Given the description of an element on the screen output the (x, y) to click on. 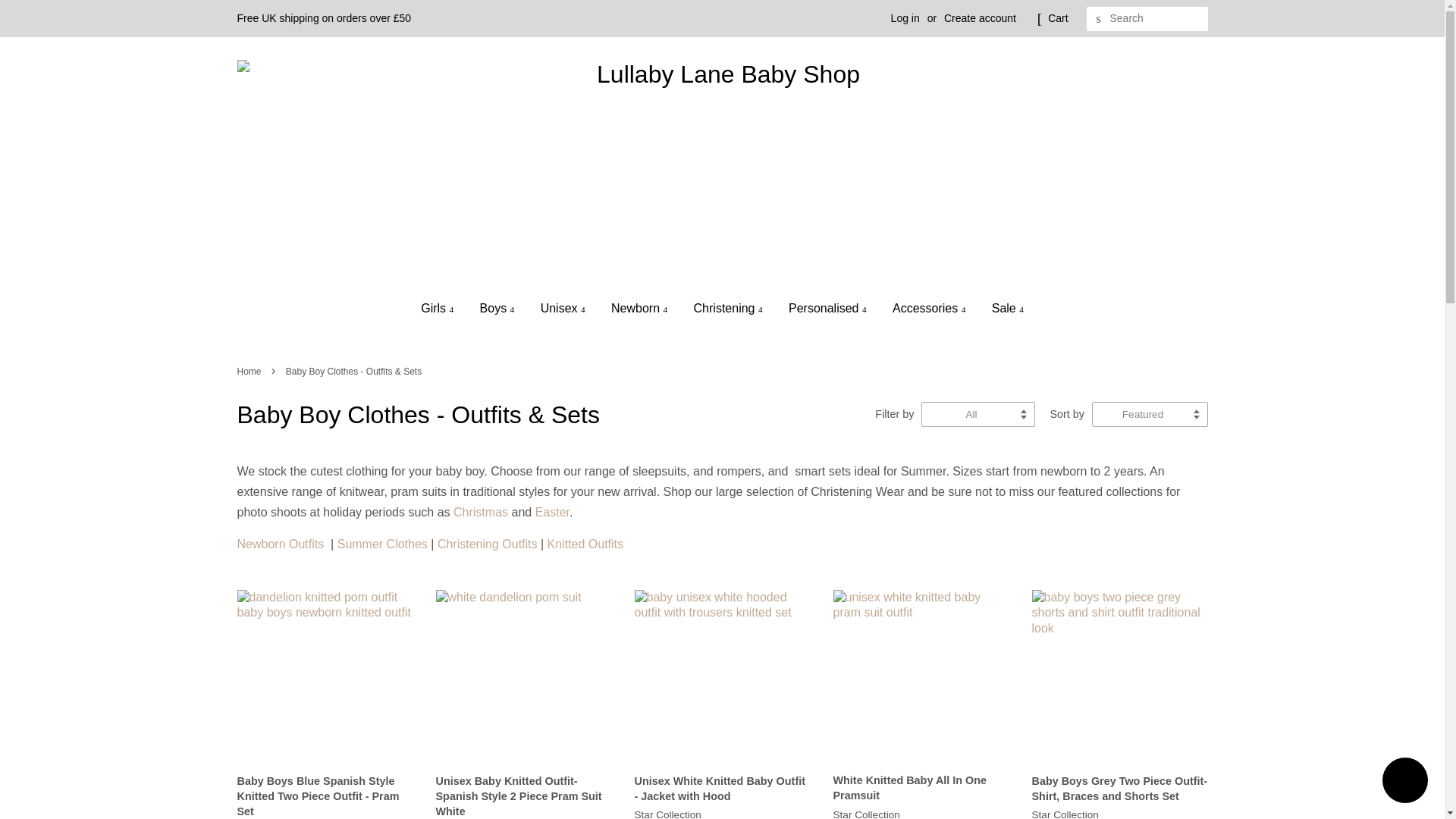
Cart (1057, 18)
newborn baby boys clothes (280, 543)
boys easter clothes (552, 512)
Back to the frontpage (249, 371)
baby boys summer clothes (382, 543)
Search (1097, 18)
Create account (979, 18)
baby boys christening outfits (487, 543)
Shopify online store chat (1404, 781)
Log in (905, 18)
baby boy knitted outfits (585, 543)
baby boy christmas clothes (480, 512)
